Given the description of an element on the screen output the (x, y) to click on. 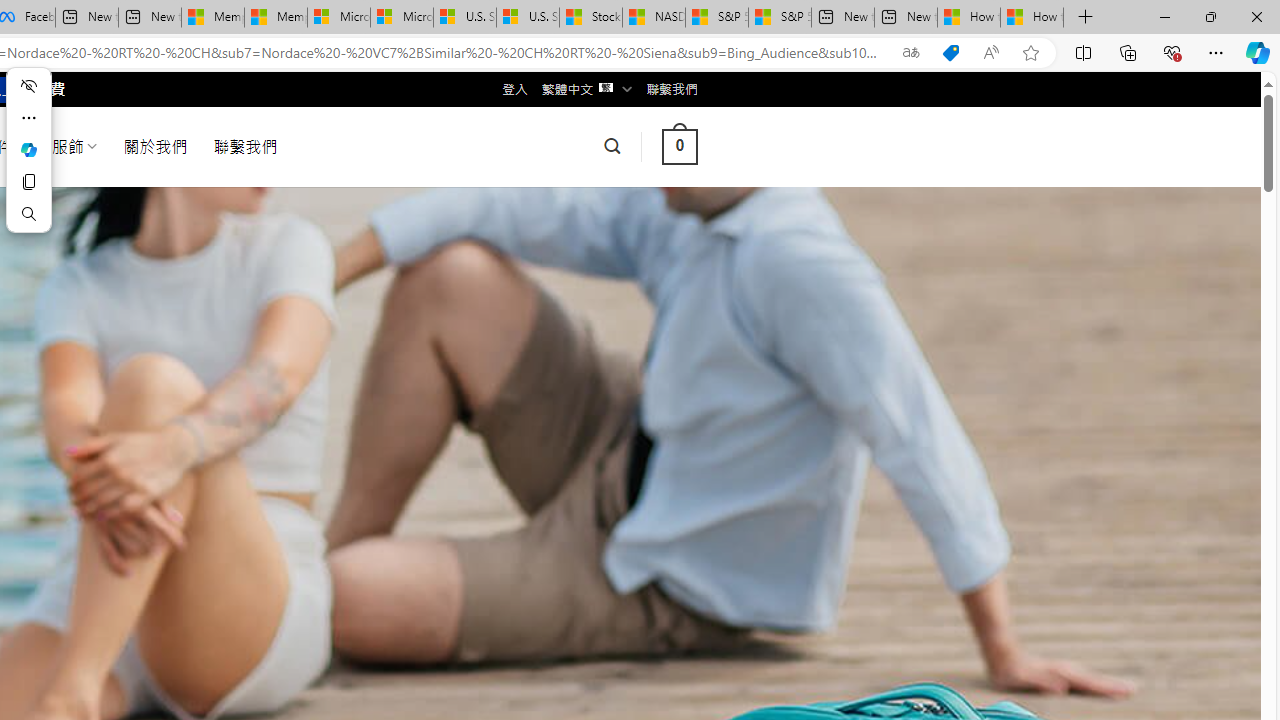
Show translate options (910, 53)
How to Use a Monitor With Your Closed Laptop (1032, 17)
Mini menu on text selection (28, 149)
